Given the description of an element on the screen output the (x, y) to click on. 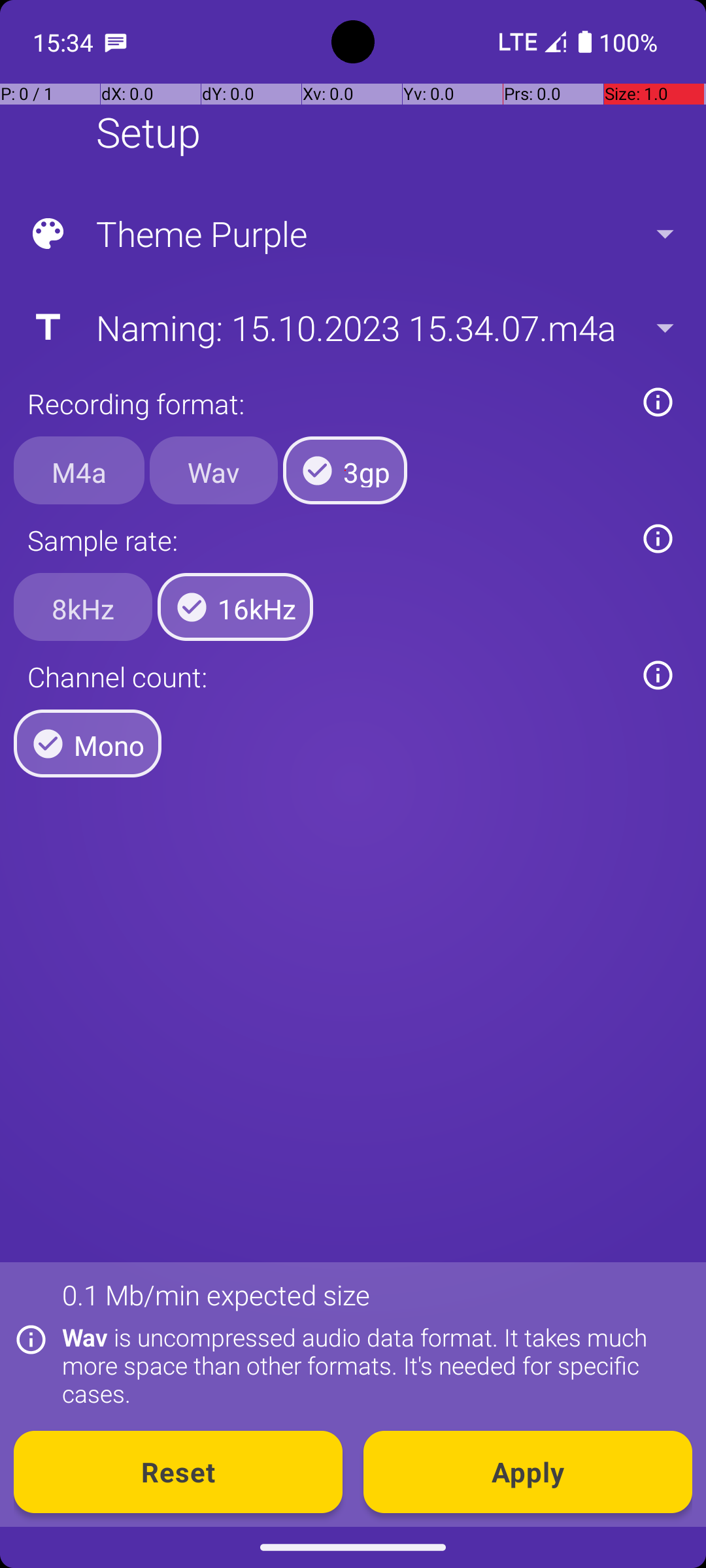
0.1 Mb/min expected size Element type: android.widget.TextView (215, 1294)
Wav is uncompressed audio data format. It takes much more space than other formats. It's needed for specific cases. Element type: android.widget.TextView (370, 1364)
Theme Purple Element type: android.widget.TextView (352, 233)
Naming: 15.10.2023 15.34.07.m4a Element type: android.widget.TextView (352, 327)
